Given the description of an element on the screen output the (x, y) to click on. 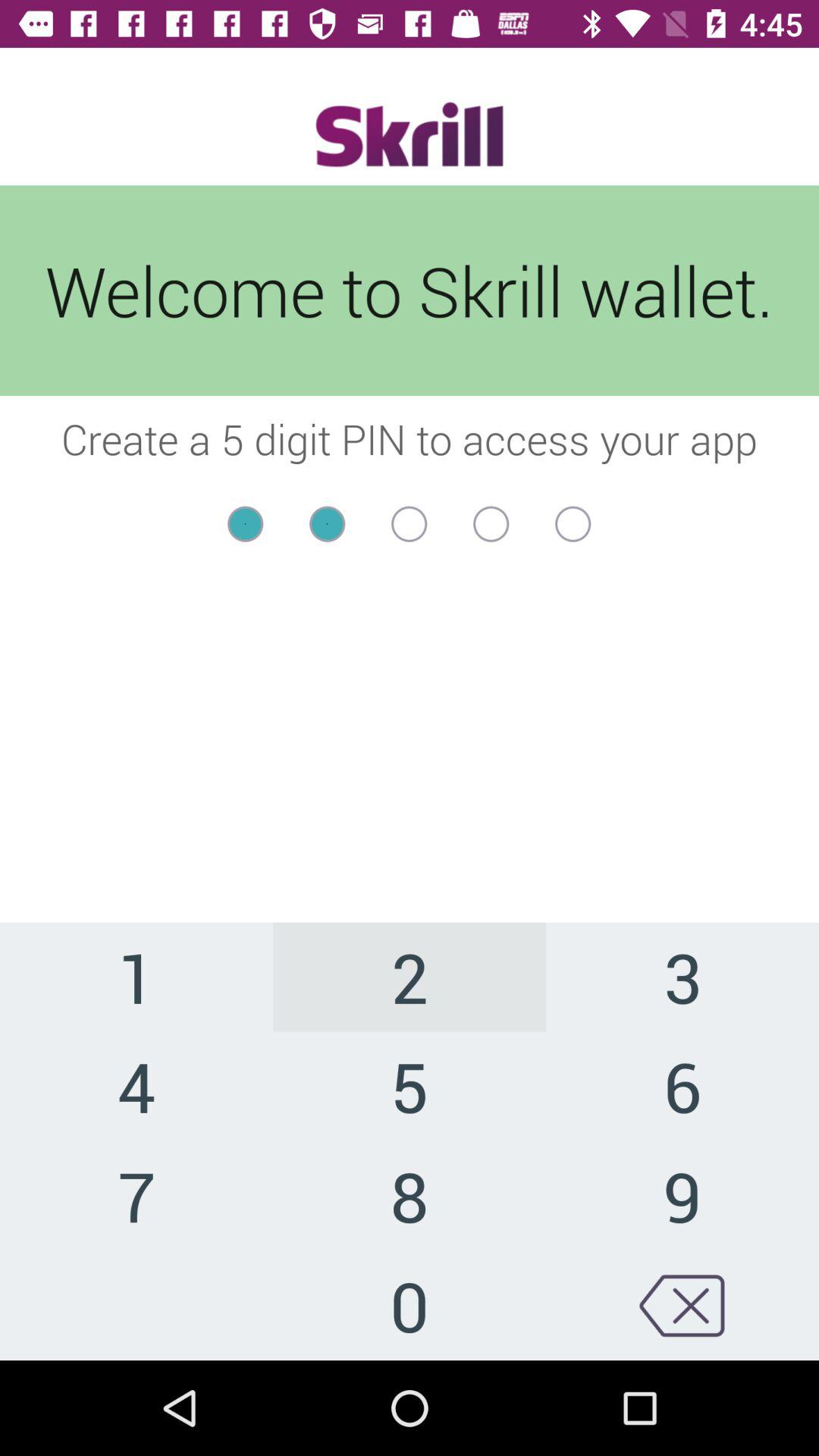
launch the item above 1 icon (409, 553)
